Given the description of an element on the screen output the (x, y) to click on. 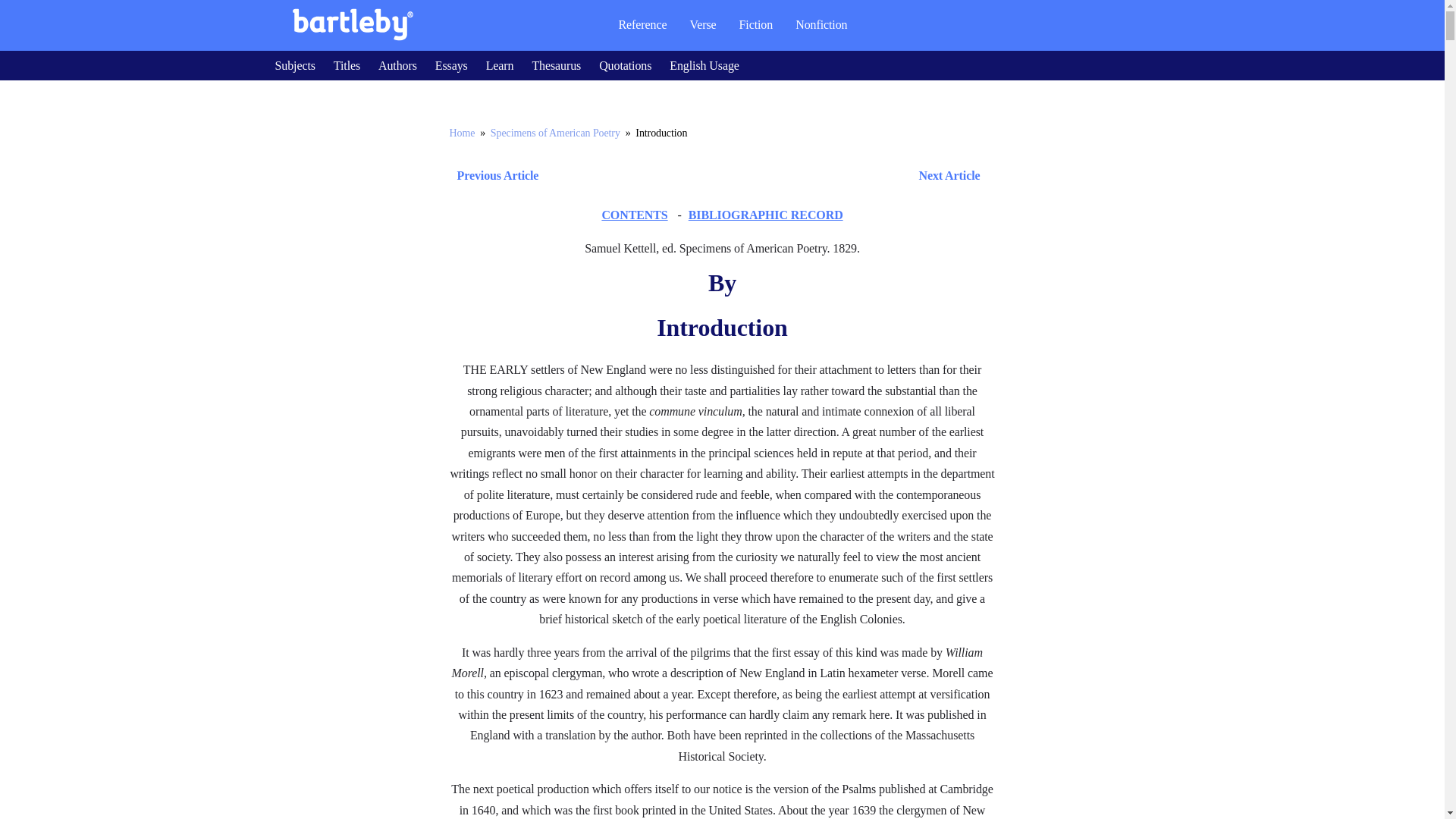
Essays (451, 65)
Specimens of American Poetry (555, 132)
Home (461, 132)
Previous Article (493, 175)
Learn (499, 65)
Verse (702, 24)
CONTENTS (633, 214)
Next Article (766, 175)
Authors (397, 65)
Subjects (294, 65)
